Given the description of an element on the screen output the (x, y) to click on. 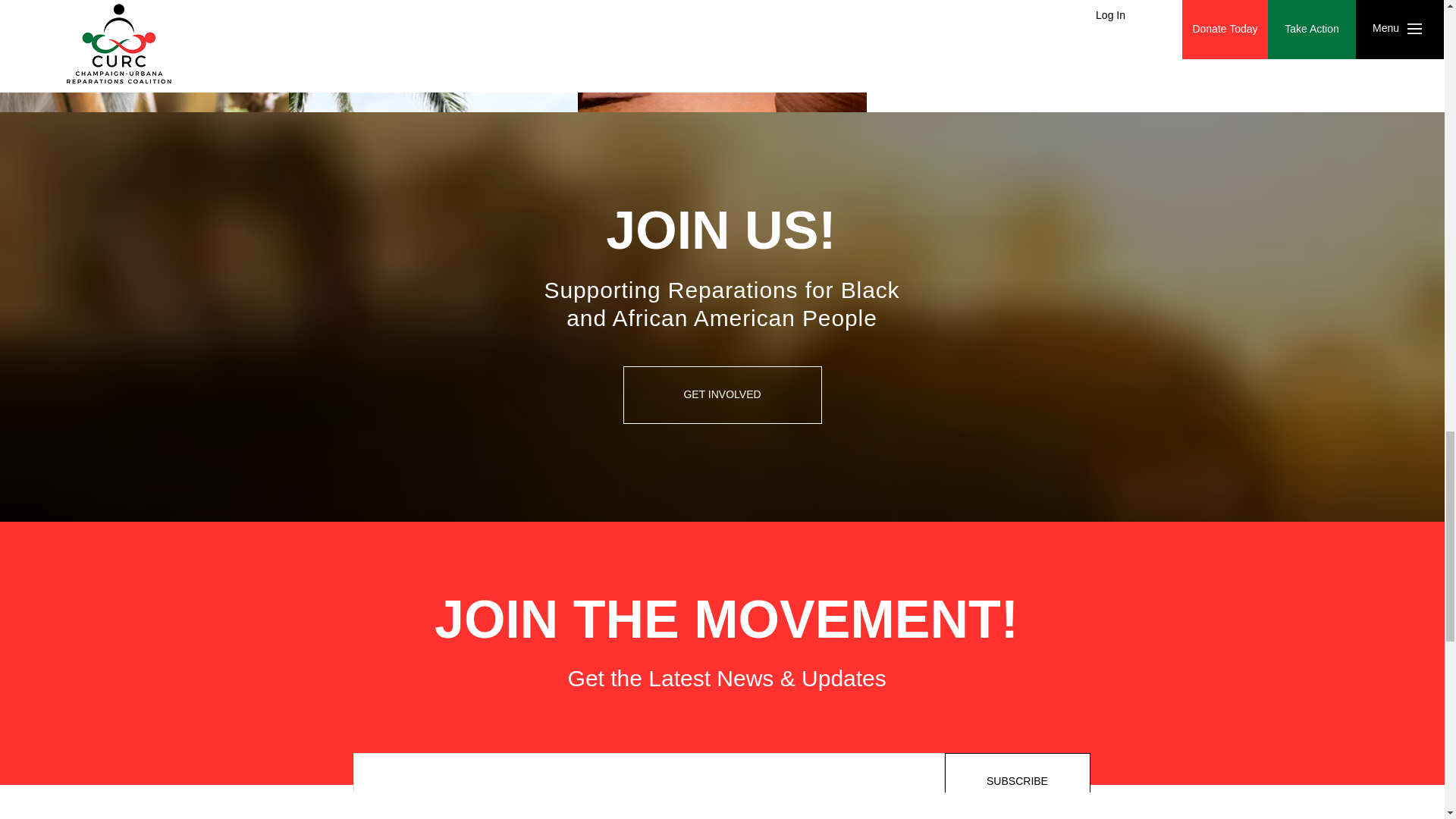
GET INVOLVED (722, 395)
SUBSCRIBE (1017, 781)
